Given the description of an element on the screen output the (x, y) to click on. 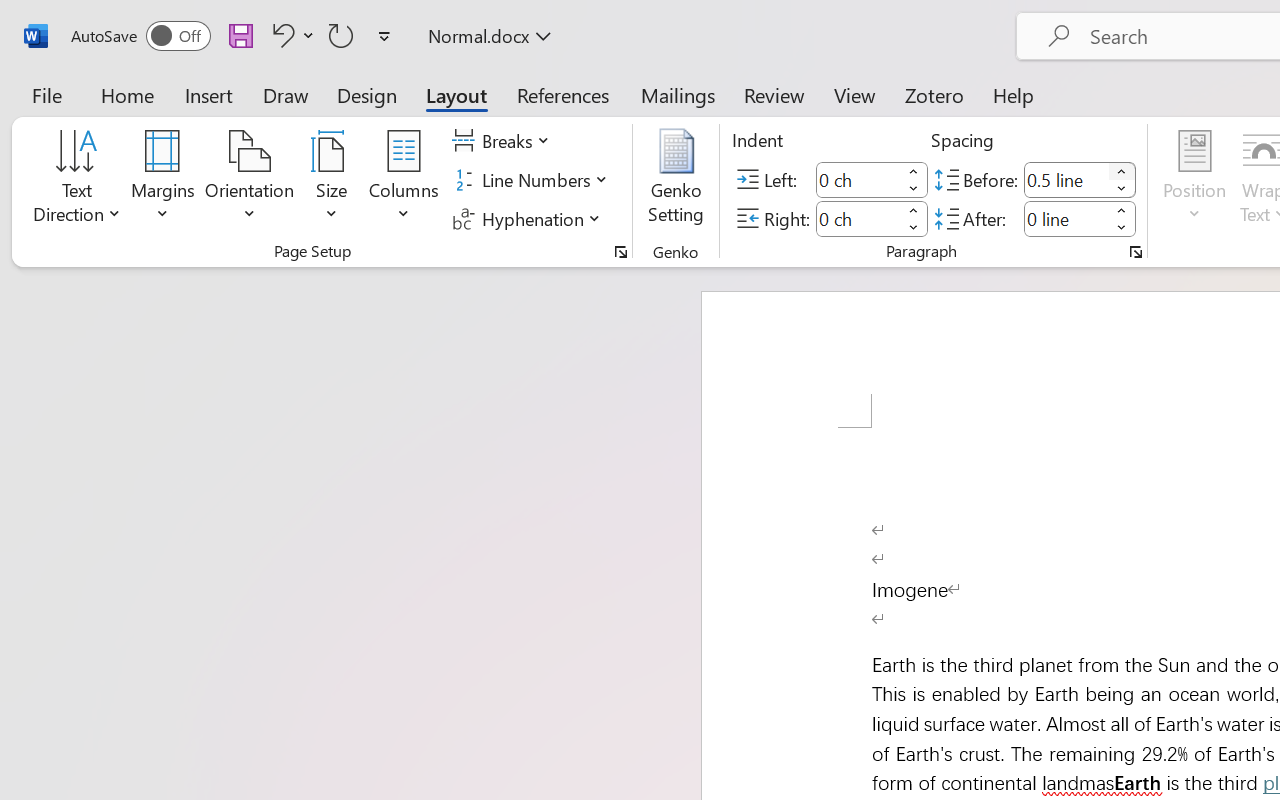
Position (1194, 179)
Columns (404, 179)
Genko Setting... (676, 179)
Text Direction (77, 179)
Undo Paragraph Formatting (280, 35)
Paragraph... (1135, 252)
Margins (163, 179)
Spacing After (1066, 218)
